Given the description of an element on the screen output the (x, y) to click on. 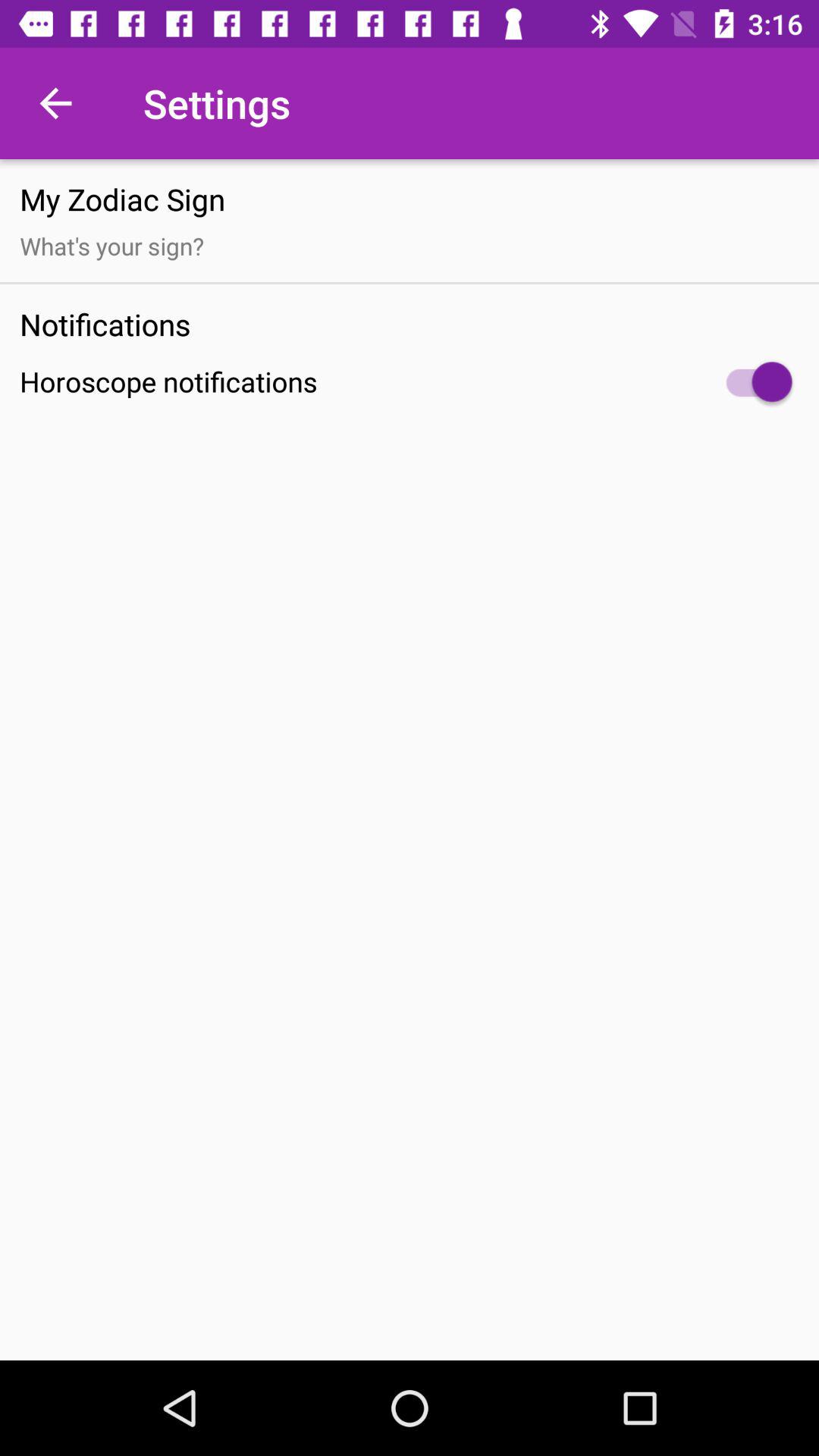
press the icon above my zodiac sign icon (55, 103)
